Given the description of an element on the screen output the (x, y) to click on. 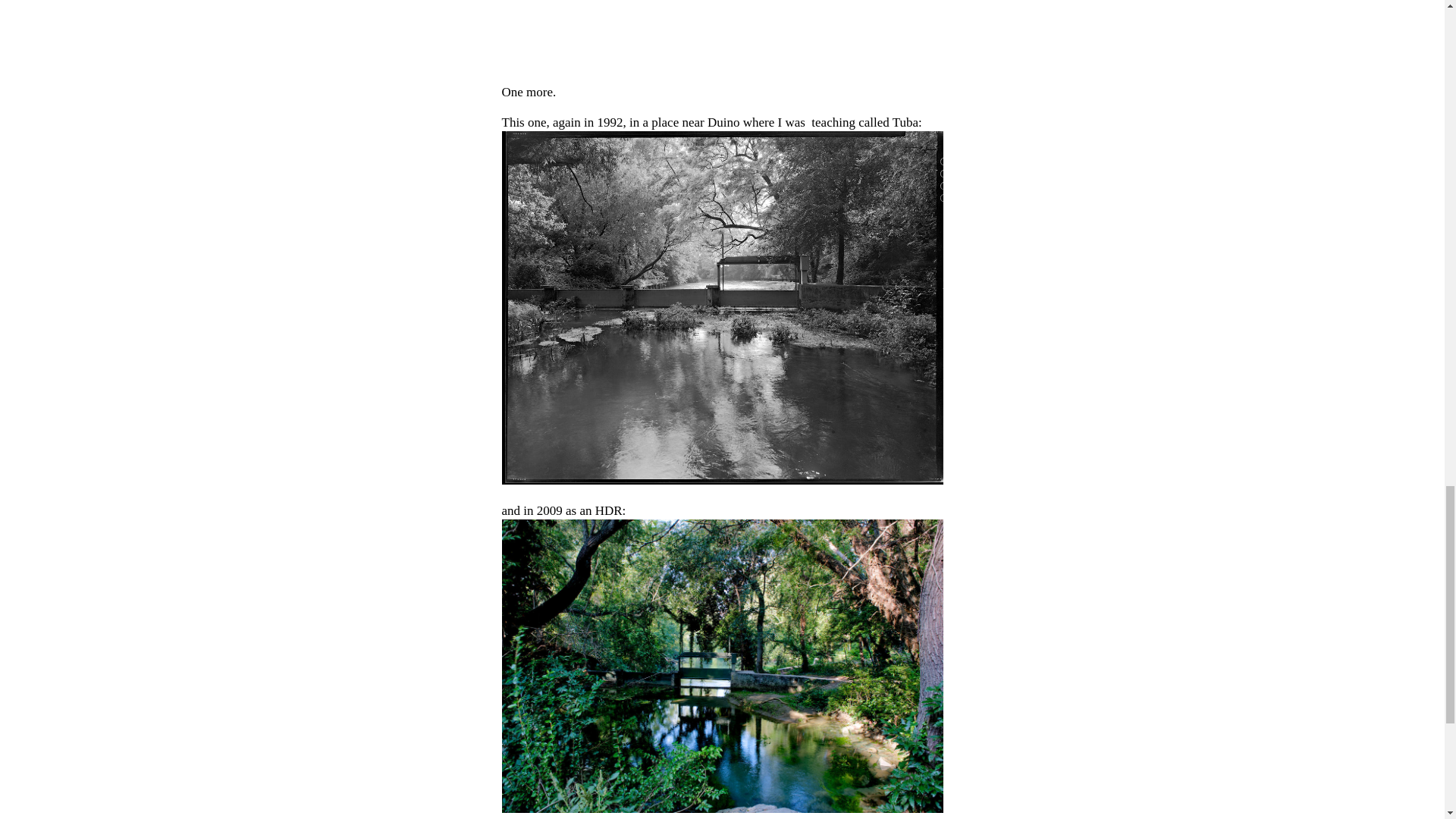
Click to enlarge (722, 666)
Click to enlarge (722, 33)
